Given the description of an element on the screen output the (x, y) to click on. 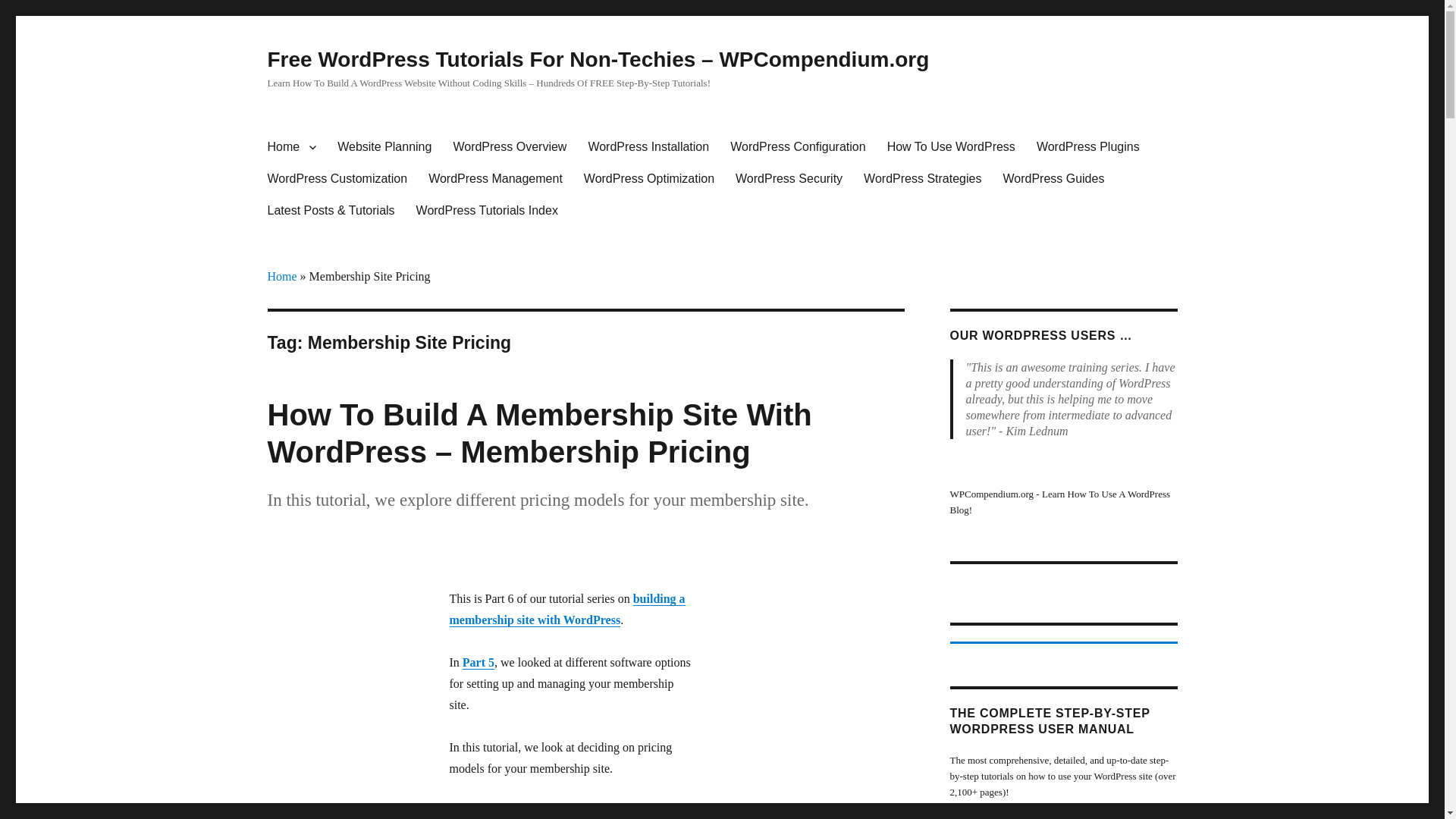
WordPress Customization (336, 178)
WordPress Optimization (649, 178)
WordPress Guides (1053, 178)
Home (281, 276)
WordPress Management (495, 178)
WordPress Installation (647, 146)
Home (291, 146)
building a membership site with WordPress (566, 609)
Website Planning (384, 146)
WordPress Strategies (922, 178)
